Given the description of an element on the screen output the (x, y) to click on. 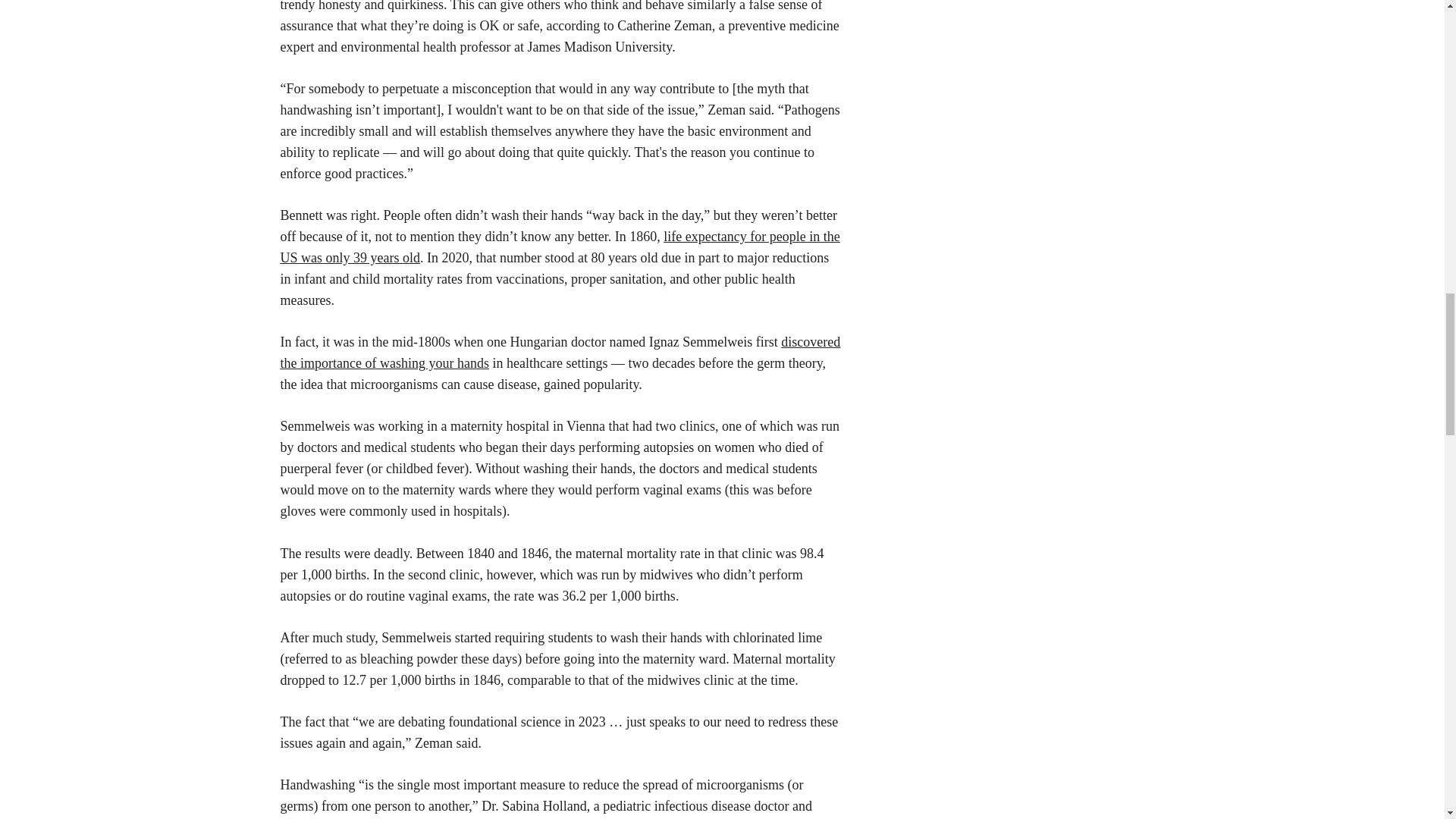
discovered the importance of washing your hands (561, 352)
life expectancy for people in the US was only 39 years old (560, 247)
